Given the description of an element on the screen output the (x, y) to click on. 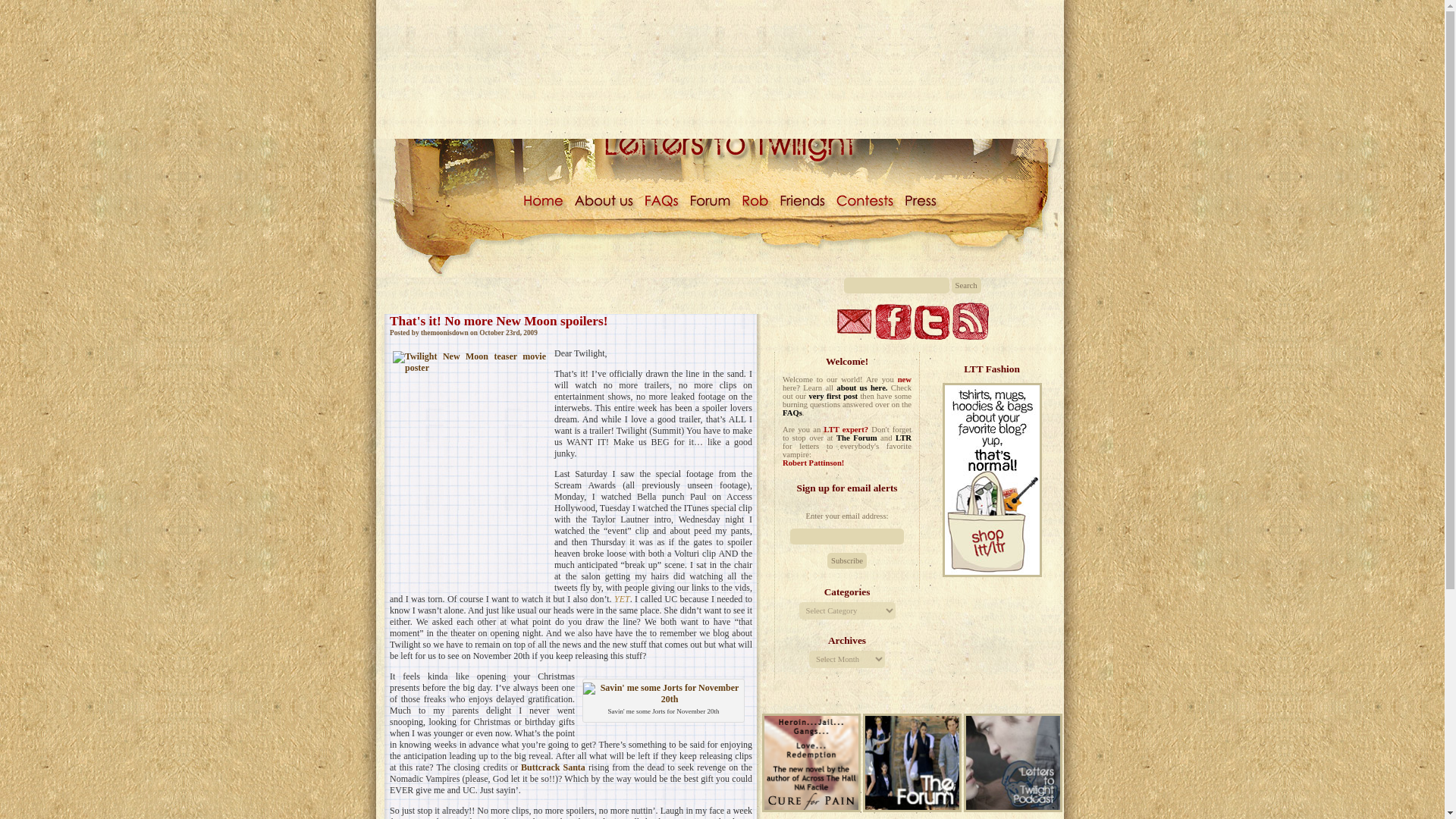
Search (964, 285)
LTT Forum (911, 808)
Buttcrack Santa (553, 767)
Subscribe to Posts (970, 320)
Cure for Pain (810, 762)
Facebook. Let's DO this! (893, 321)
LTT Podcast (1012, 762)
Permanent Link to That's it! No more New Moon spoilers! (499, 320)
newmoonwolfpackjorts (663, 693)
Subscribe (846, 560)
